Given the description of an element on the screen output the (x, y) to click on. 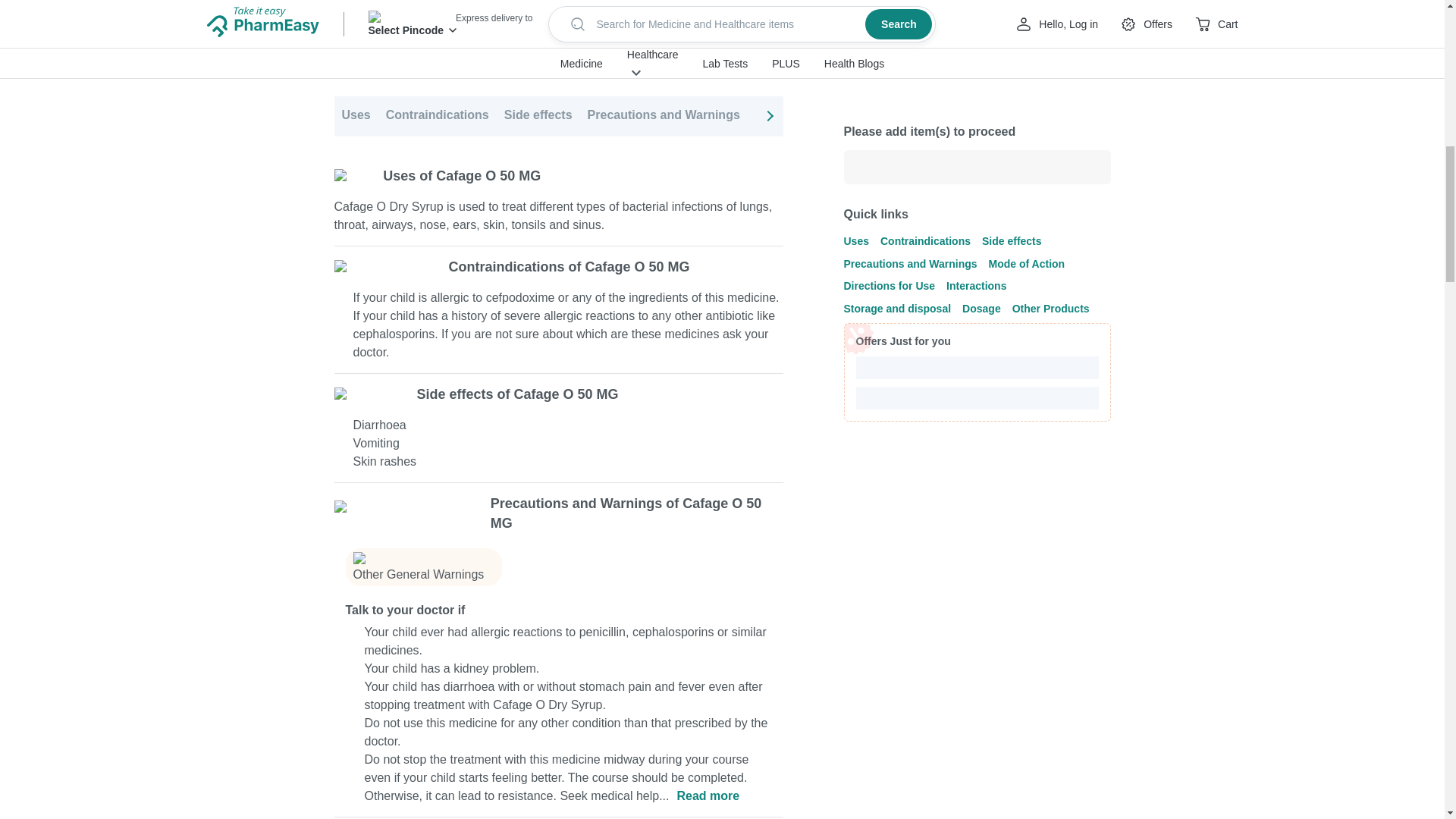
Dosage (1220, 116)
Directions for Use (909, 116)
Other Products (1302, 116)
Interactions (1011, 116)
View (753, 43)
Storage and disposal (1121, 116)
Uses (355, 116)
Side effects (537, 116)
Mode of Action (799, 116)
Precautions and Warnings (663, 116)
